Given the description of an element on the screen output the (x, y) to click on. 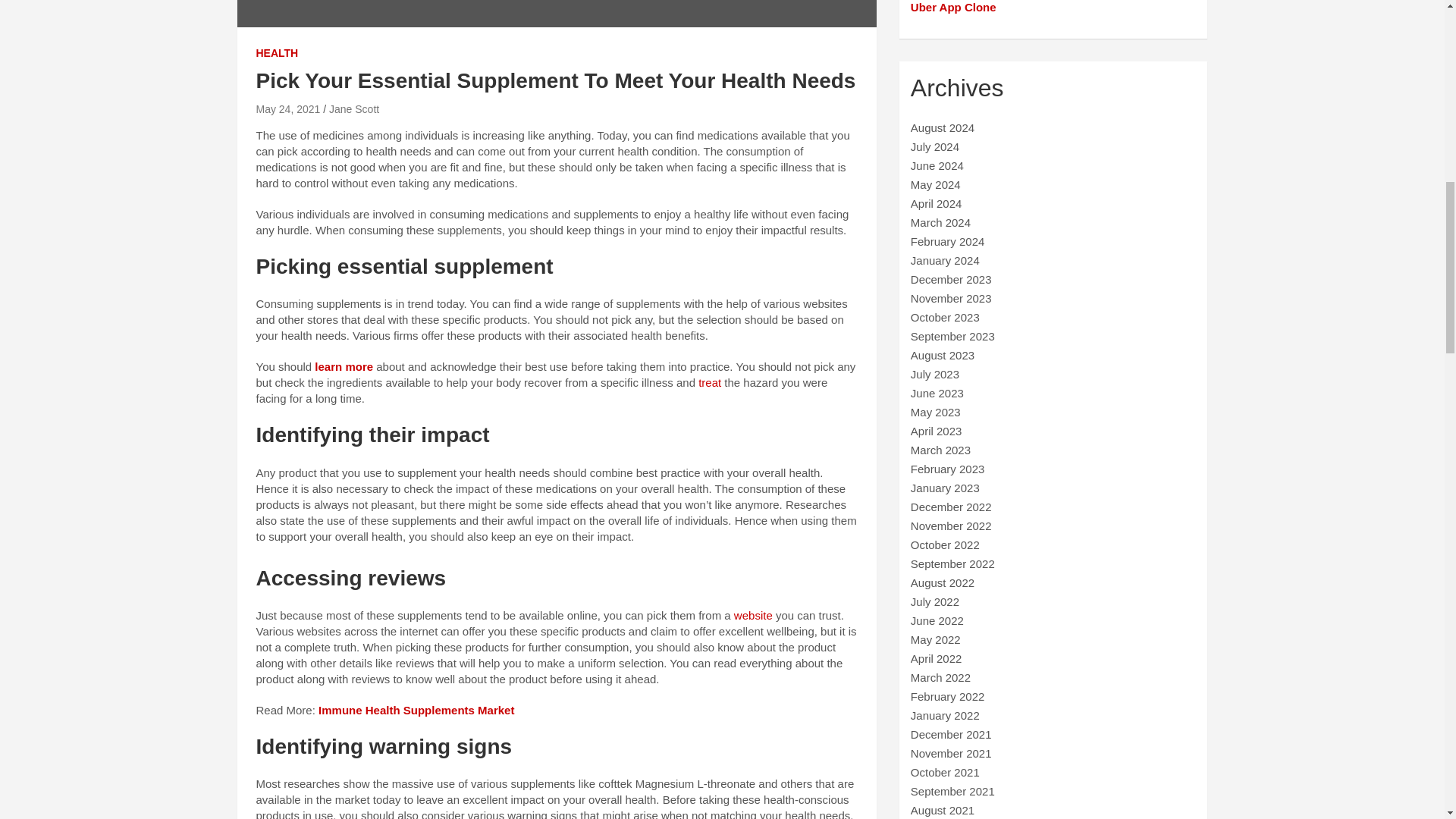
learn more (343, 366)
Immune Health Supplements Market (415, 709)
treat (709, 382)
Pick Your Essential Supplement To Meet Your Health Needs (288, 109)
Jane Scott (353, 109)
website (753, 615)
HEALTH (277, 53)
May 24, 2021 (288, 109)
